Given the description of an element on the screen output the (x, y) to click on. 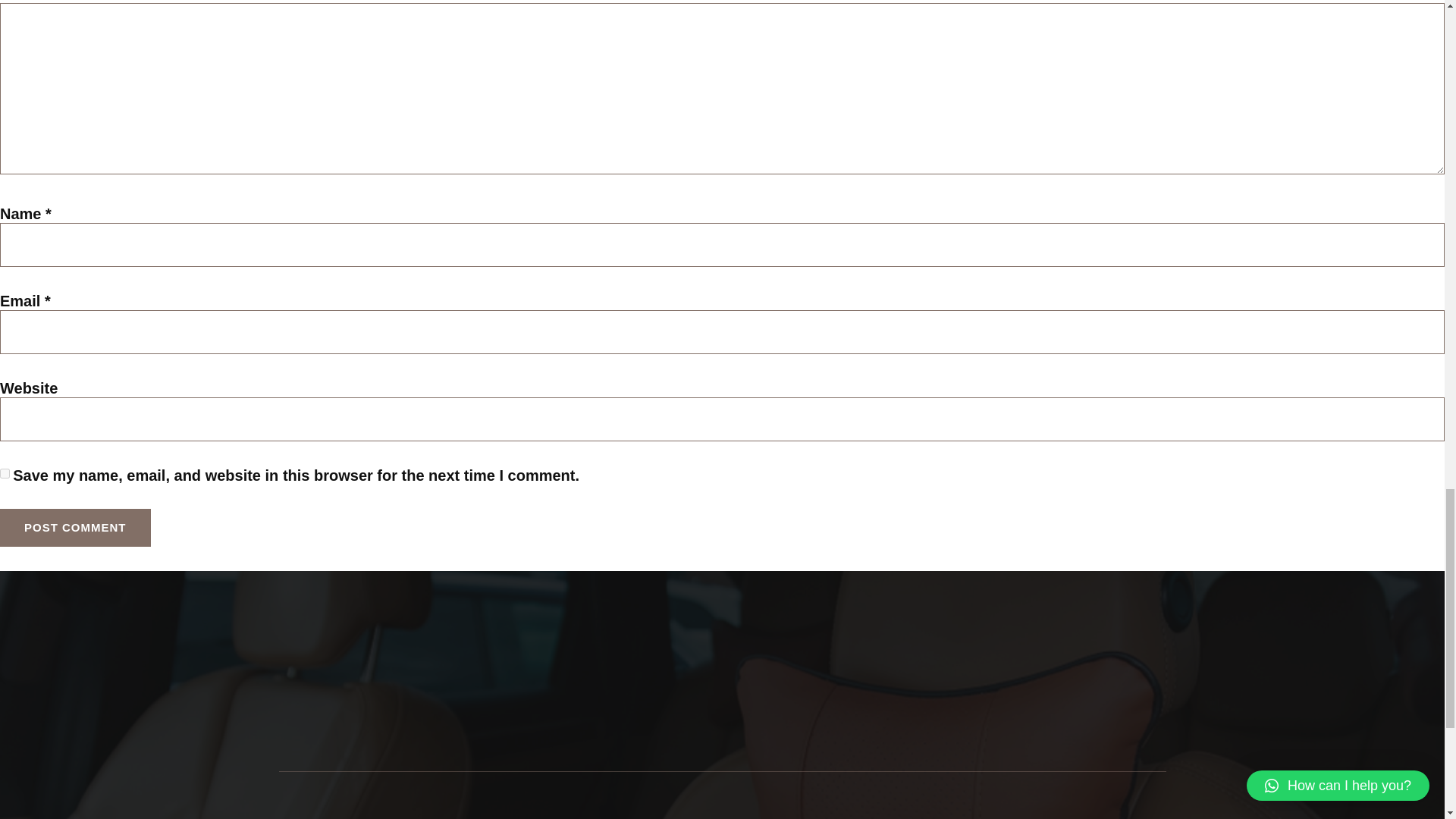
Post Comment (75, 527)
yes (5, 473)
Post Comment (75, 527)
